Given the description of an element on the screen output the (x, y) to click on. 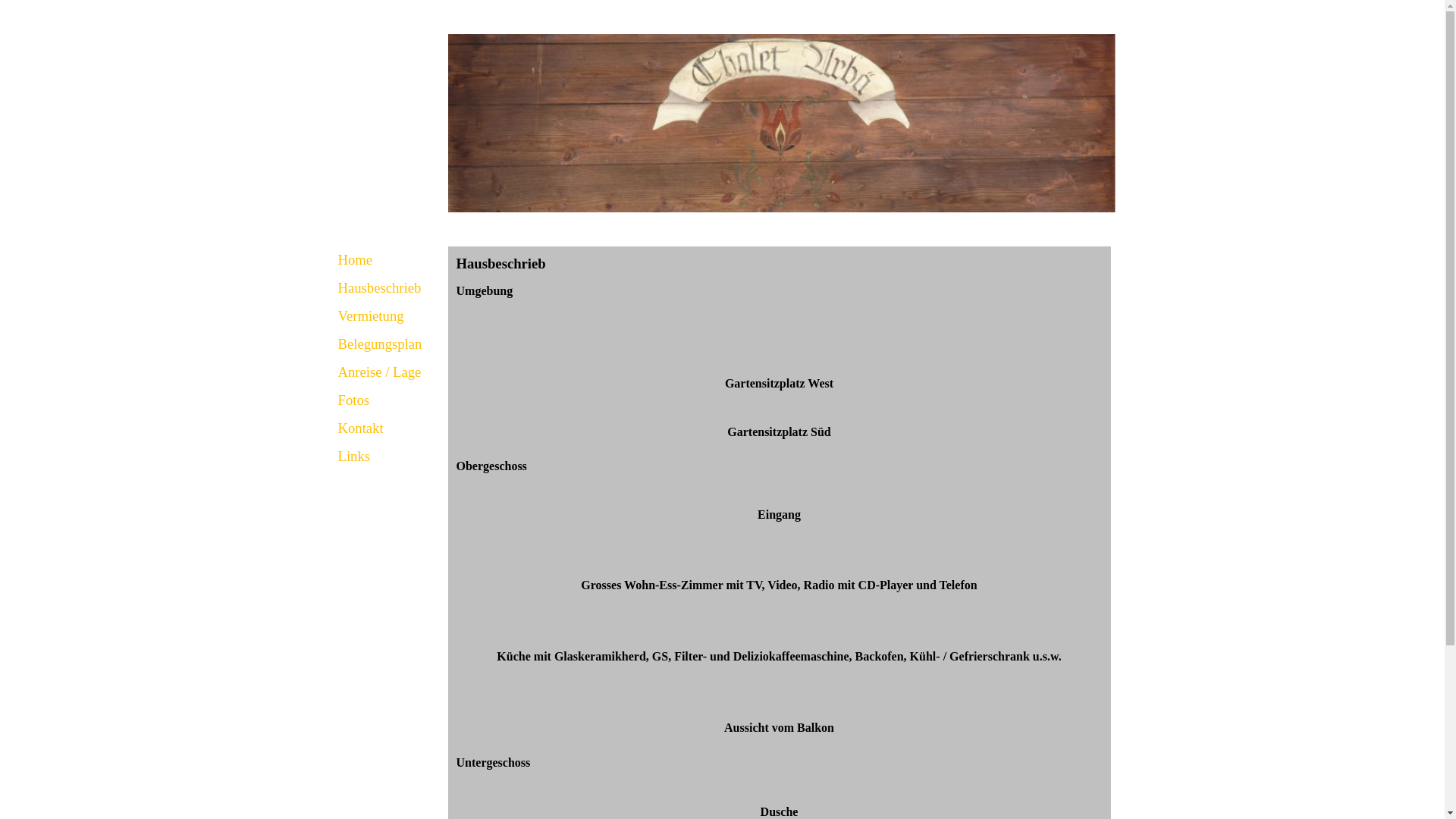
Home Element type: text (387, 259)
Anreise / Lage Element type: text (387, 371)
Hausbeschrieb Element type: text (387, 287)
Belegungsplan Element type: text (387, 343)
Vermietung Element type: text (387, 315)
Kontakt Element type: text (387, 427)
Links Element type: text (387, 455)
